Given the description of an element on the screen output the (x, y) to click on. 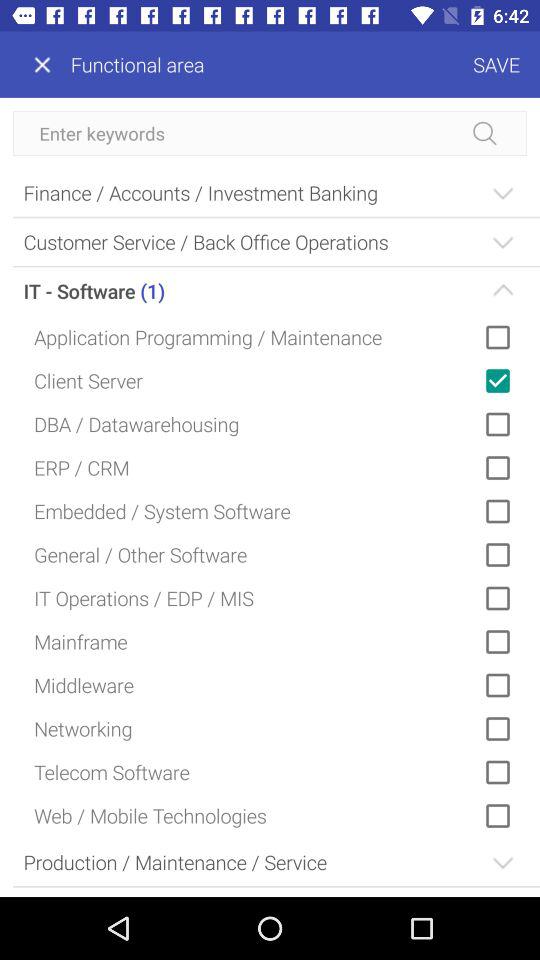
search bar (269, 133)
